Given the description of an element on the screen output the (x, y) to click on. 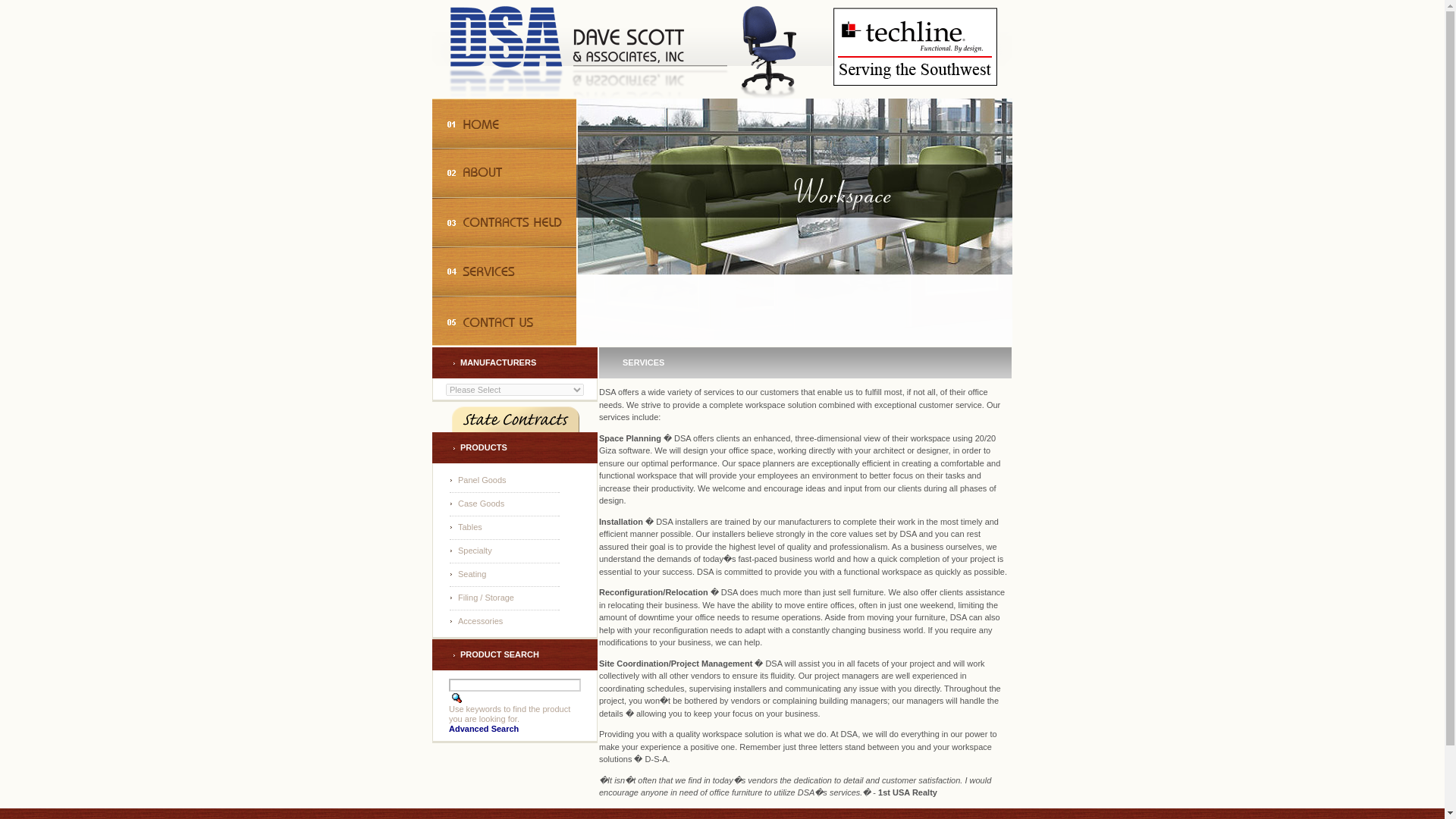
Panel Goods (477, 479)
Specialty (470, 550)
Tables (465, 526)
Accessories (475, 620)
Case Goods (476, 502)
Seating (467, 573)
Advanced Search (483, 728)
 PRODUCT SEARCH  (457, 697)
